Given the description of an element on the screen output the (x, y) to click on. 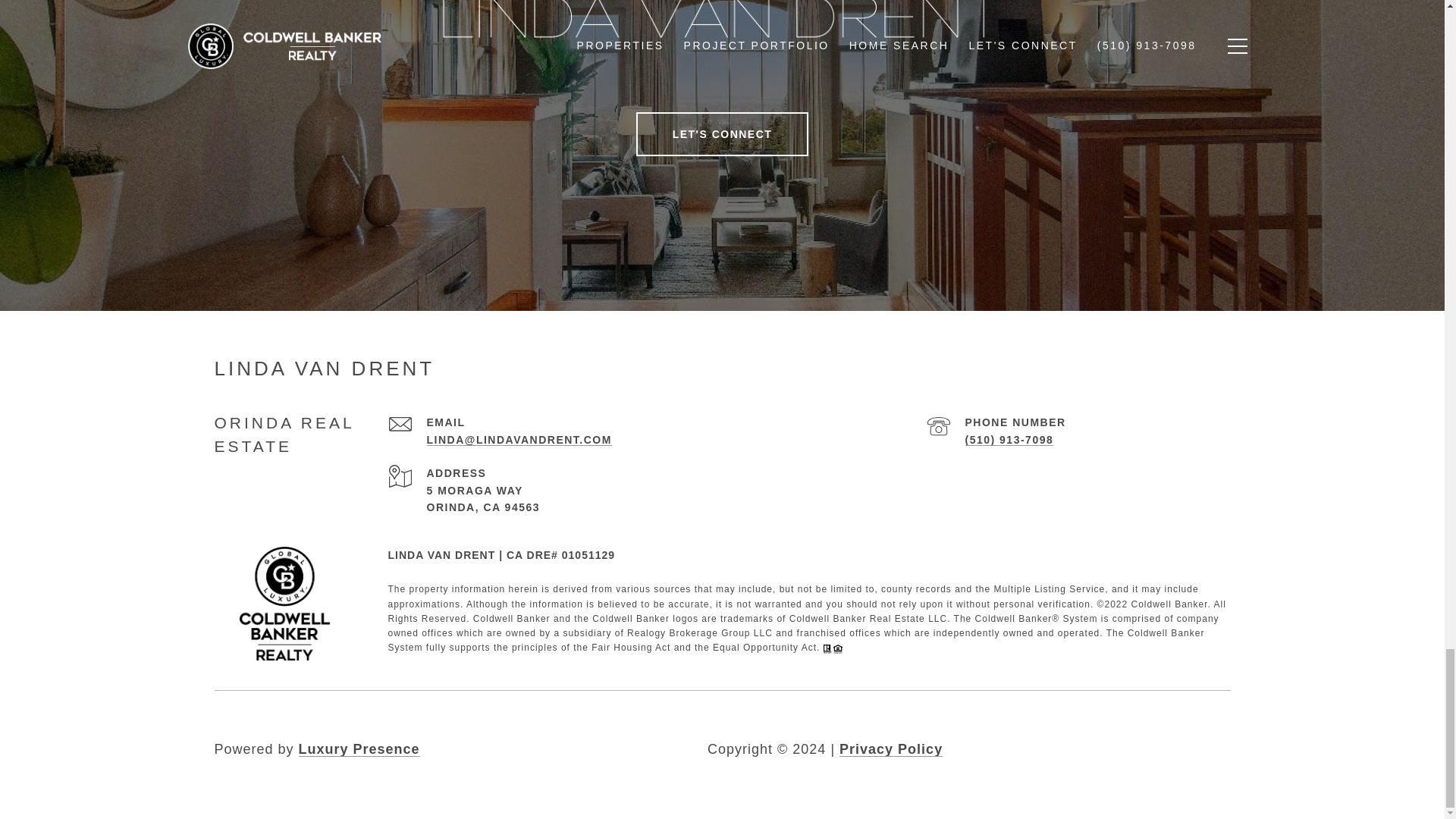
LET'S CONNECT (722, 134)
Privacy Policy (891, 748)
Luxury Presence (359, 748)
